Given the description of an element on the screen output the (x, y) to click on. 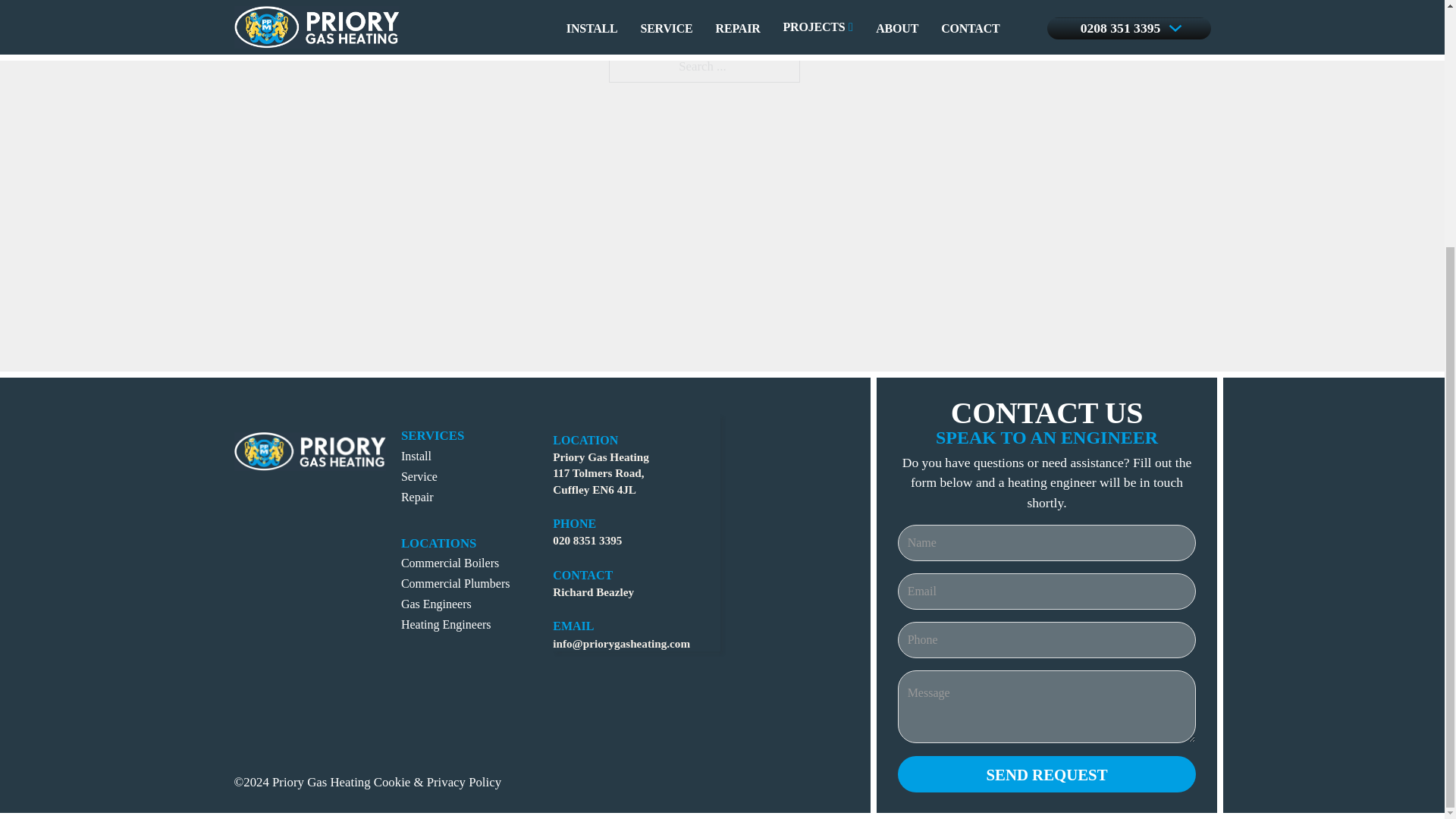
Heating Engineers (446, 624)
Gas Engineers (436, 603)
Send Request (1047, 773)
Service (419, 476)
Commercial Boilers (450, 562)
Send Request (1047, 773)
Repair (417, 496)
Install (415, 455)
Commercial Plumbers (456, 583)
